Given the description of an element on the screen output the (x, y) to click on. 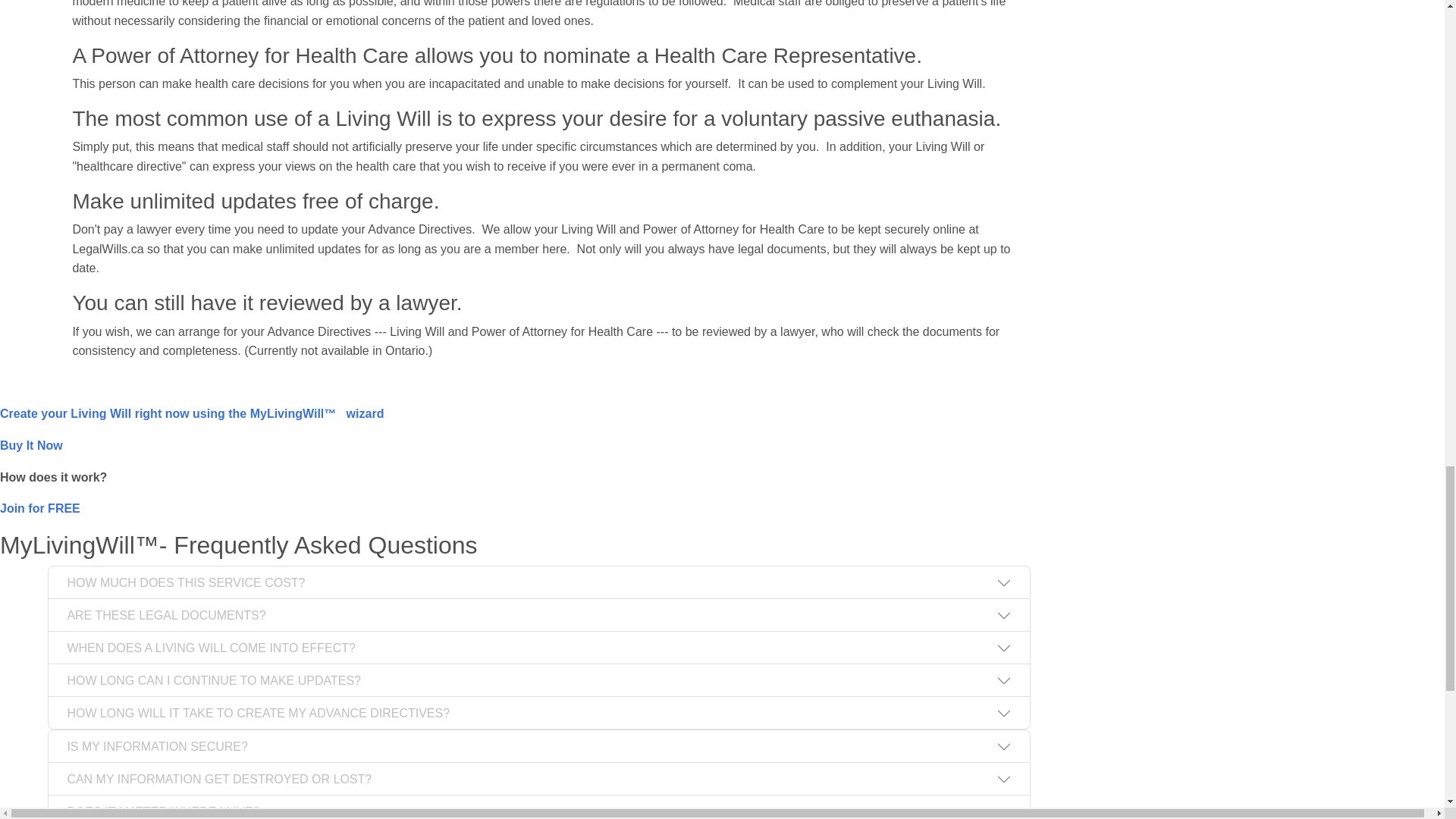
Join for FREE (40, 508)
HOW MUCH DOES THIS SERVICE COST? (538, 582)
HOW LONG CAN I CONTINUE TO MAKE UPDATES? (538, 680)
Buy It Now (31, 445)
ARE THESE LEGAL DOCUMENTS? (538, 614)
WHEN DOES A LIVING WILL COME INTO EFFECT? (538, 647)
HOW LONG WILL IT TAKE TO CREATE MY ADVANCE DIRECTIVES? (538, 712)
How does it work? (53, 476)
